Given the description of an element on the screen output the (x, y) to click on. 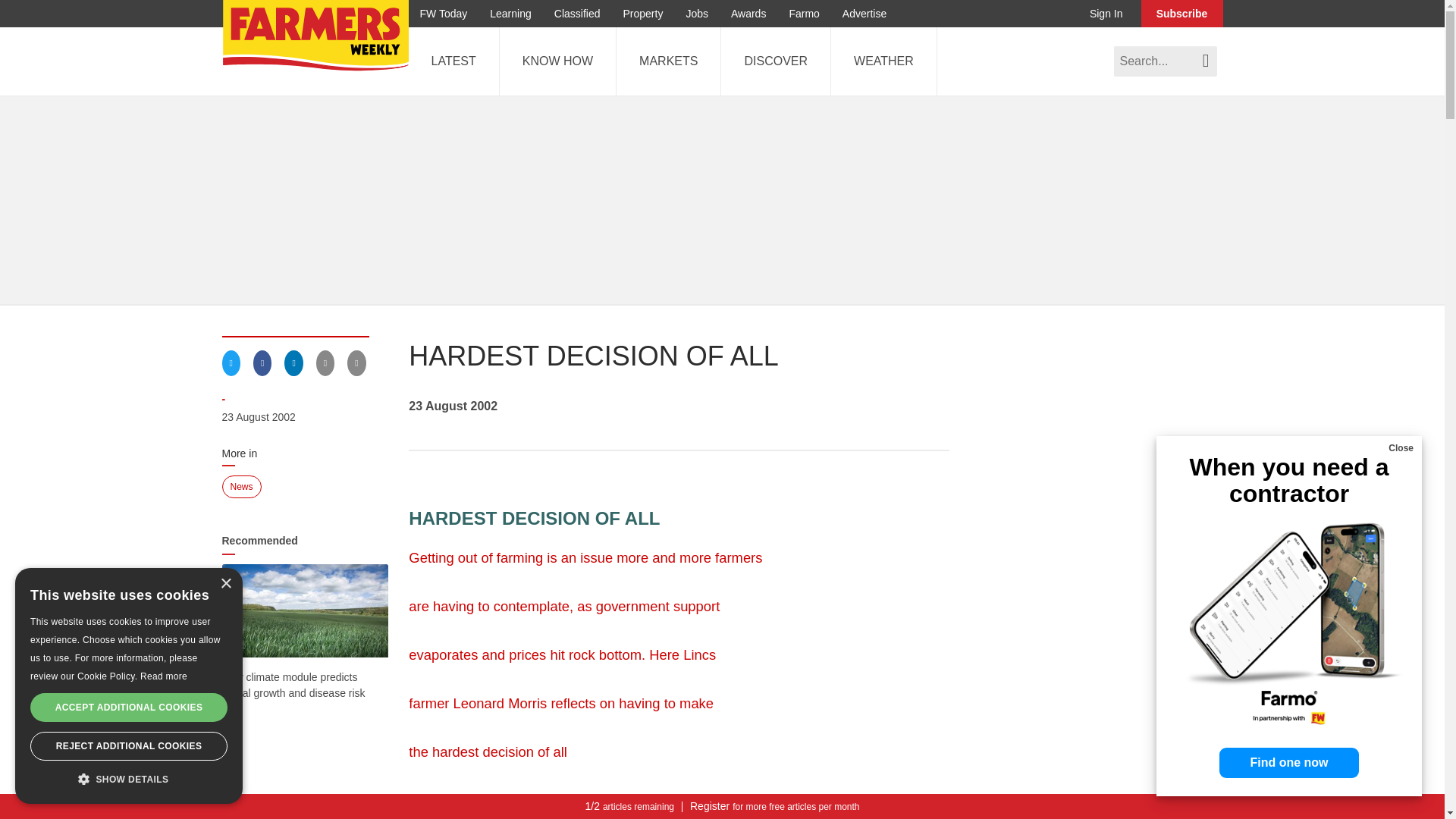
3rd party ad content (679, 814)
